Given the description of an element on the screen output the (x, y) to click on. 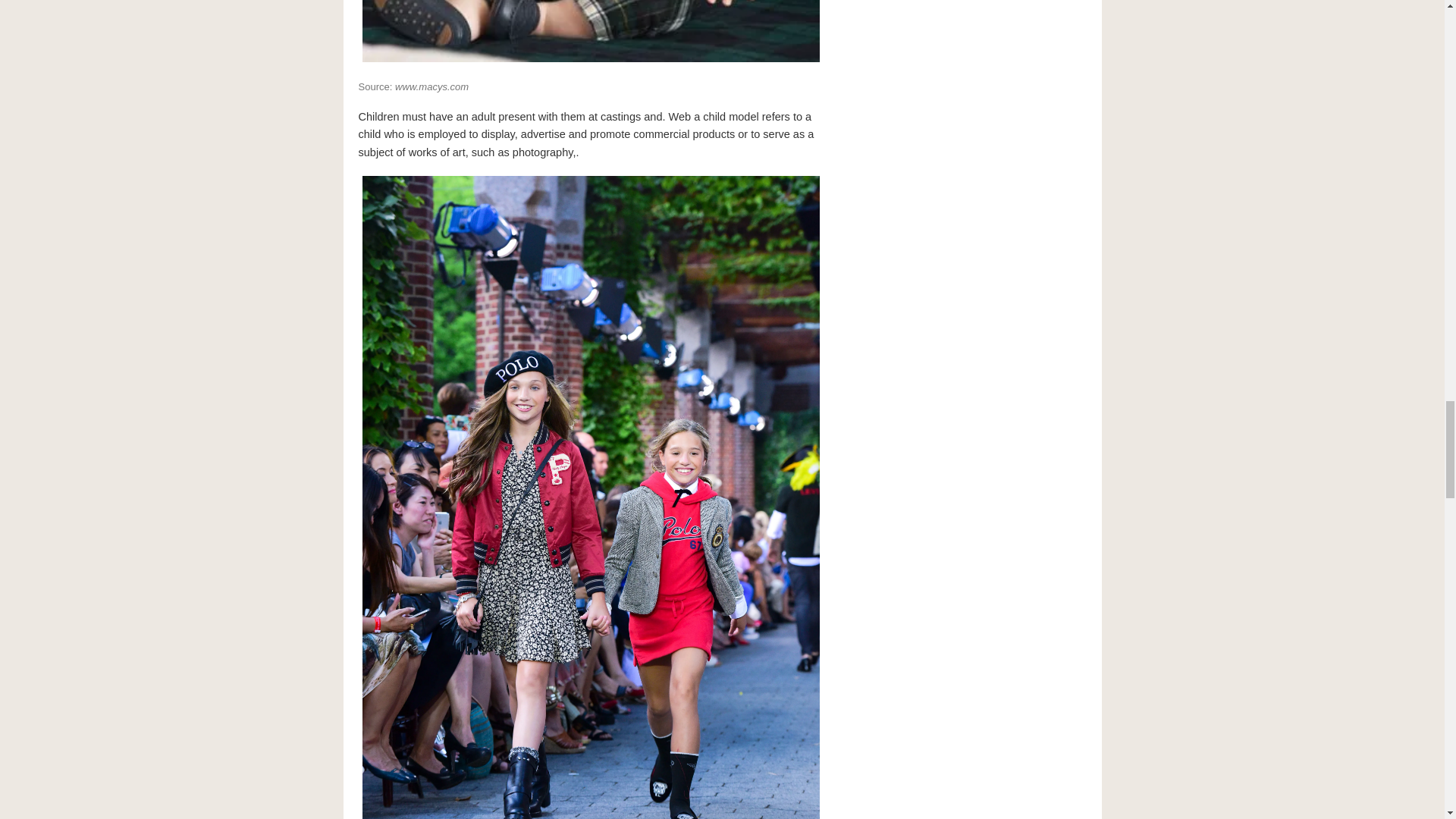
Cool Child Model Ralph Lauren References 7 (590, 33)
